Given the description of an element on the screen output the (x, y) to click on. 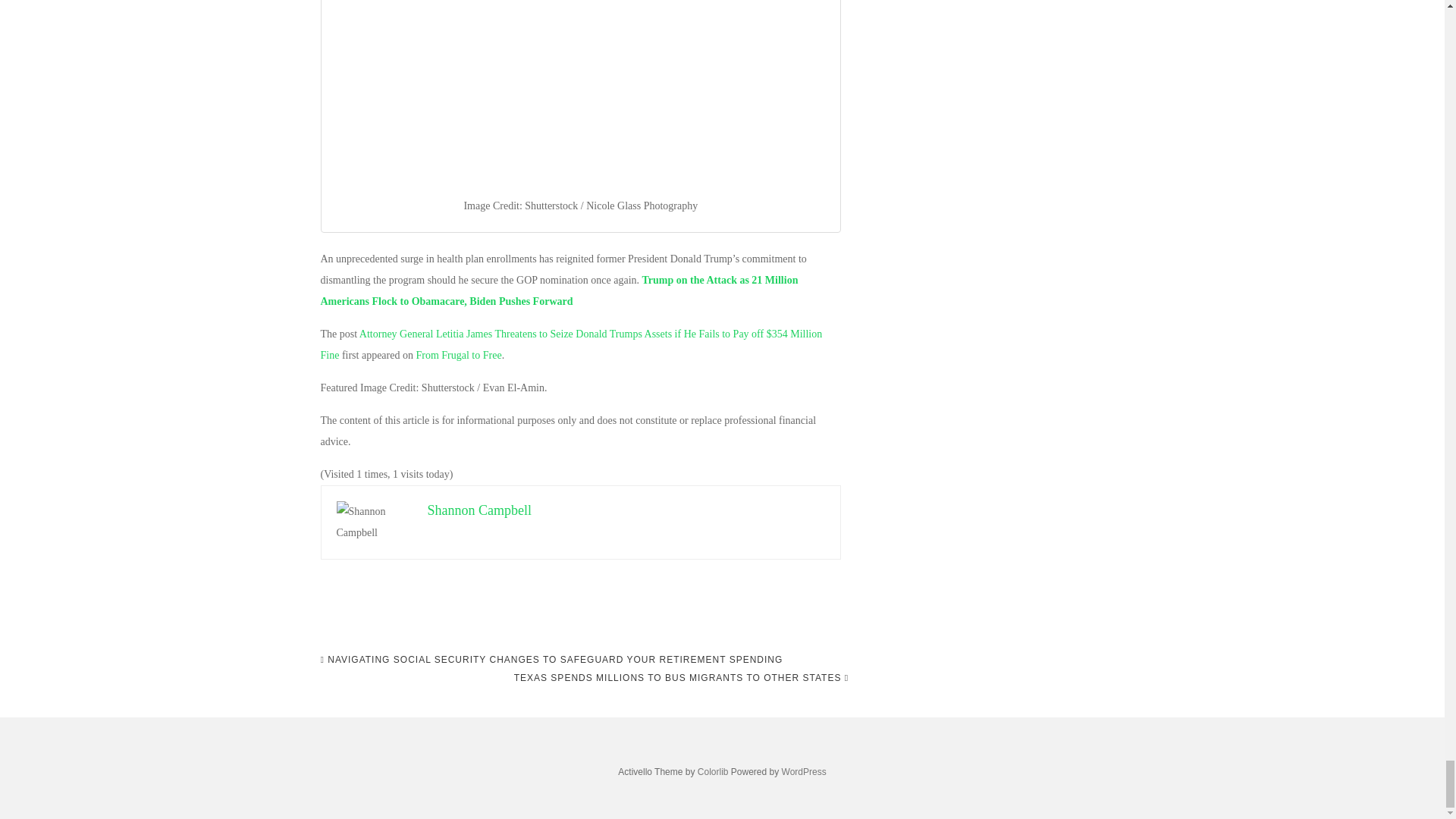
Shannon Campbell (480, 509)
From Frugal to Free (457, 355)
TEXAS SPENDS MILLIONS TO BUS MIGRANTS TO OTHER STATES (680, 678)
